Given the description of an element on the screen output the (x, y) to click on. 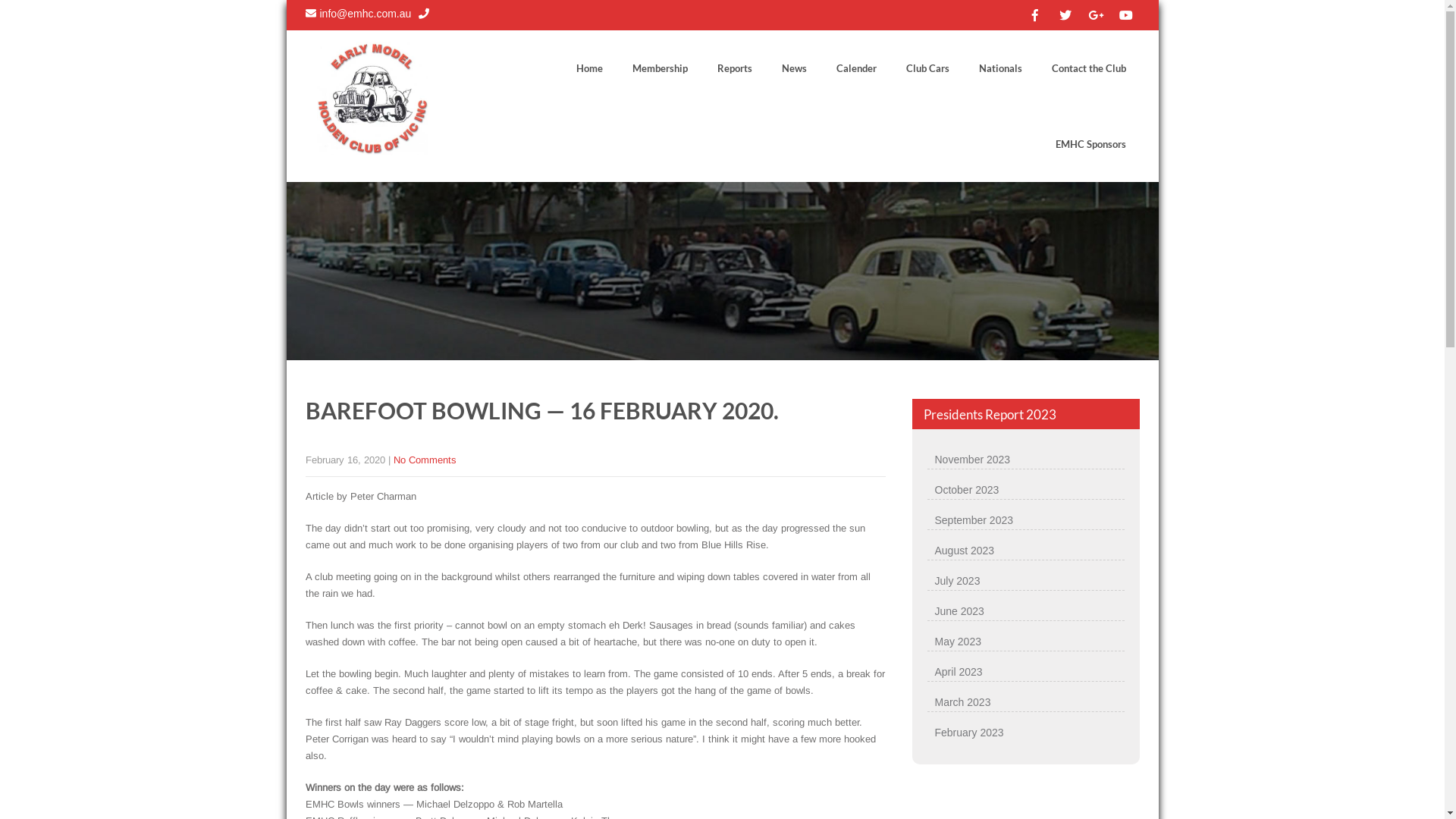
Membership Element type: text (659, 68)
Nationals Element type: text (999, 68)
News Element type: text (793, 68)
Contact the Club Element type: text (1088, 68)
February 2023 Element type: text (1024, 732)
June 2023 Element type: text (1024, 611)
Club Cars Element type: text (926, 68)
No Comments Element type: text (423, 459)
info@emhc.com.au Element type: text (357, 13)
April 2023 Element type: text (1024, 671)
August 2023 Element type: text (1024, 550)
fab fa-twitter Element type: hover (1065, 15)
May 2023 Element type: text (1024, 641)
October 2023 Element type: text (1024, 489)
Calender Element type: text (855, 68)
EMHC Sponsors Element type: text (1090, 144)
Home Element type: text (589, 68)
September 2023 Element type: text (1024, 520)
Reports Element type: text (734, 68)
fab fa-facebook-f Element type: hover (1034, 15)
July 2023 Element type: text (1024, 580)
fab fa-google-plus-g Element type: hover (1095, 15)
November 2023 Element type: text (1024, 459)
fab fa-youtube Element type: hover (1125, 15)
March 2023 Element type: text (1024, 702)
